Given the description of an element on the screen output the (x, y) to click on. 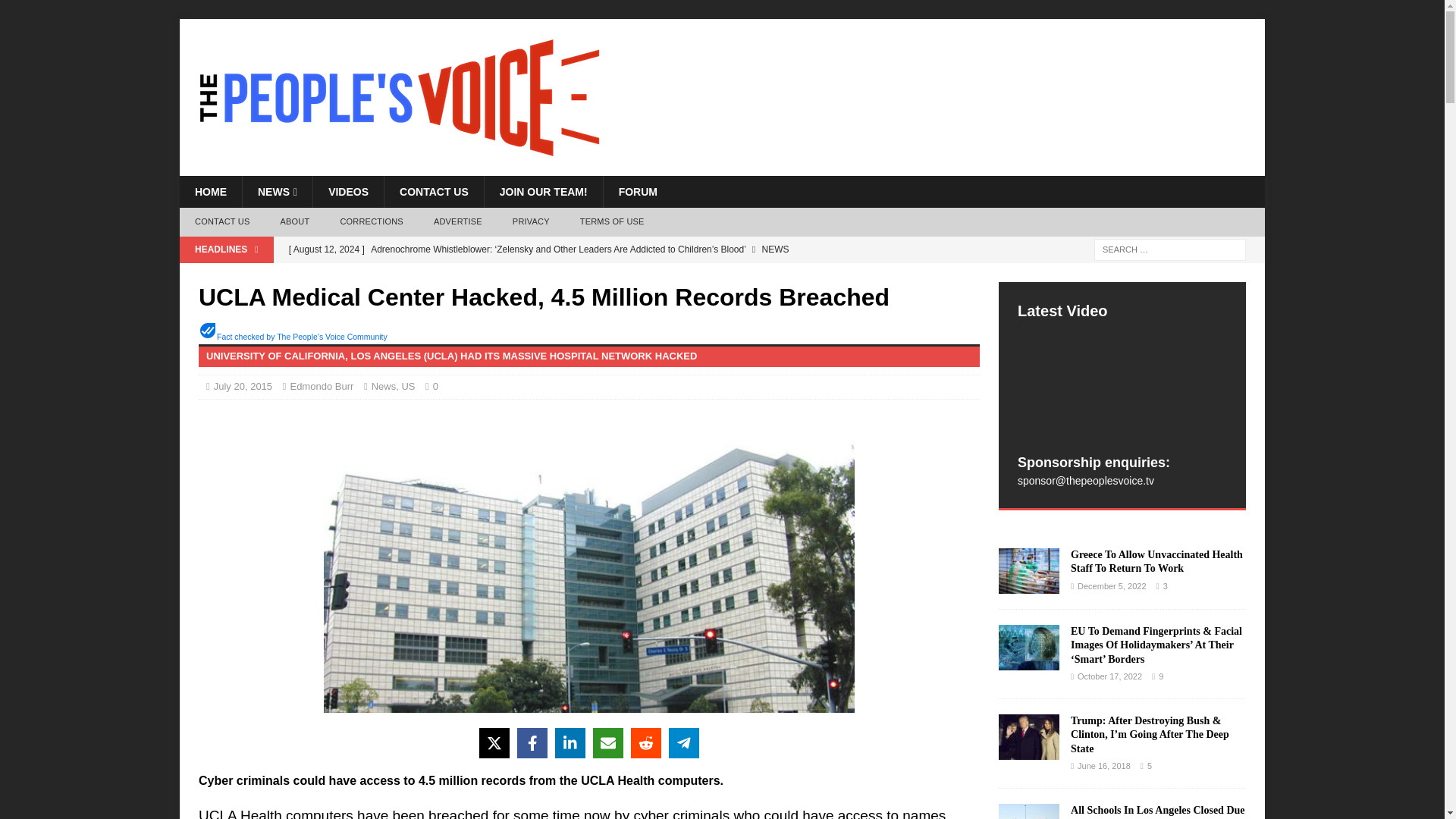
VIDEOS (348, 192)
FORUM (637, 192)
July 20, 2015 (243, 386)
PRIVACY (530, 222)
US (407, 386)
Fact checked by The People's Voice Community (301, 336)
CONTACT US (433, 192)
0 (438, 386)
Search (56, 11)
News (383, 386)
